Given the description of an element on the screen output the (x, y) to click on. 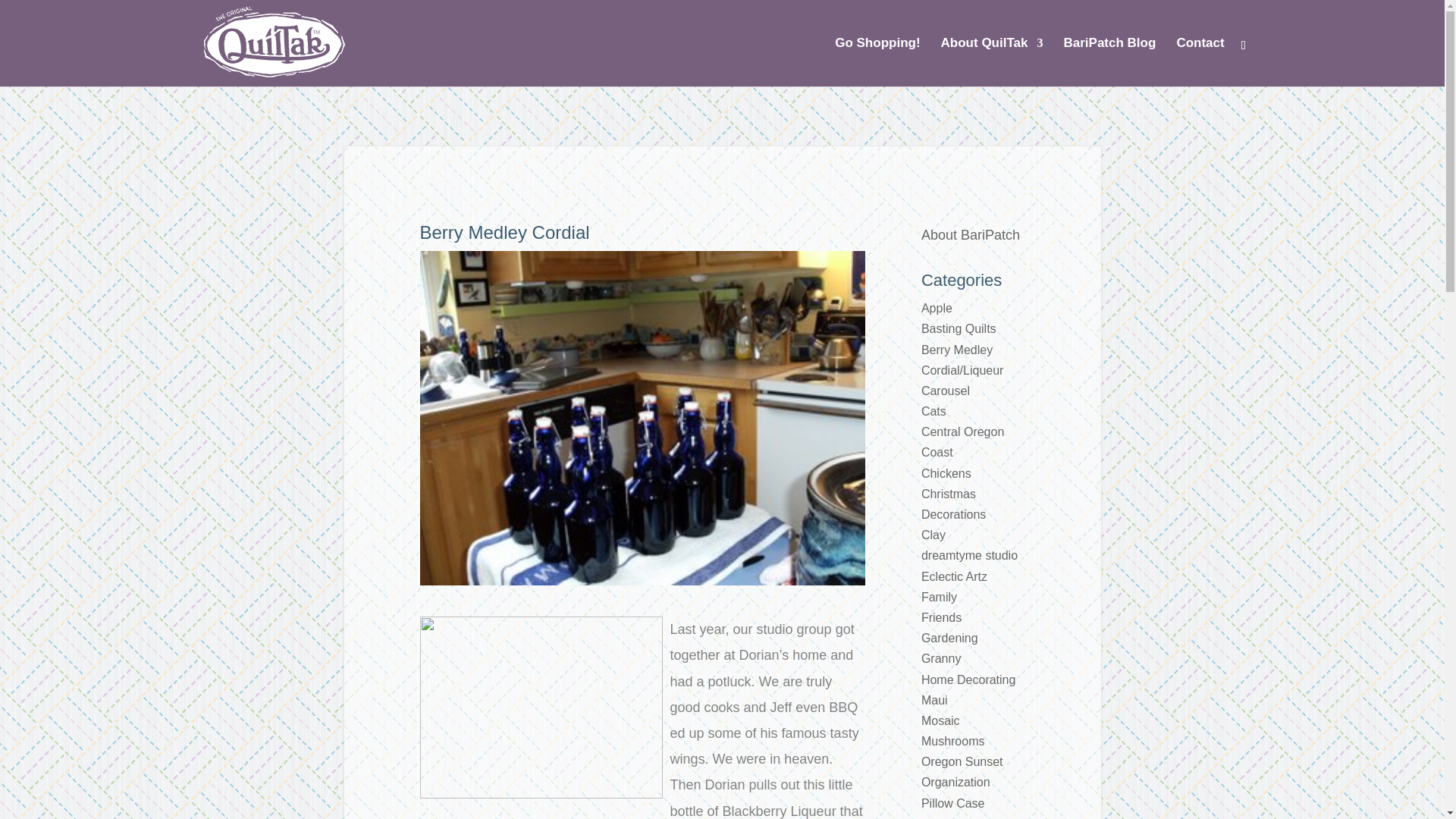
BariPatch Blog (1109, 61)
Basting Quilts (958, 328)
Go Shopping! (877, 61)
Clay (932, 534)
Maui (934, 699)
Granny (940, 658)
dreamtyme studio (969, 554)
Mosaic (940, 720)
Chickens (946, 472)
Gardening (949, 637)
Family (938, 596)
Apple (936, 308)
Mushrooms (953, 740)
Oregon Sunset (962, 761)
Eclectic Artz (954, 576)
